Given the description of an element on the screen output the (x, y) to click on. 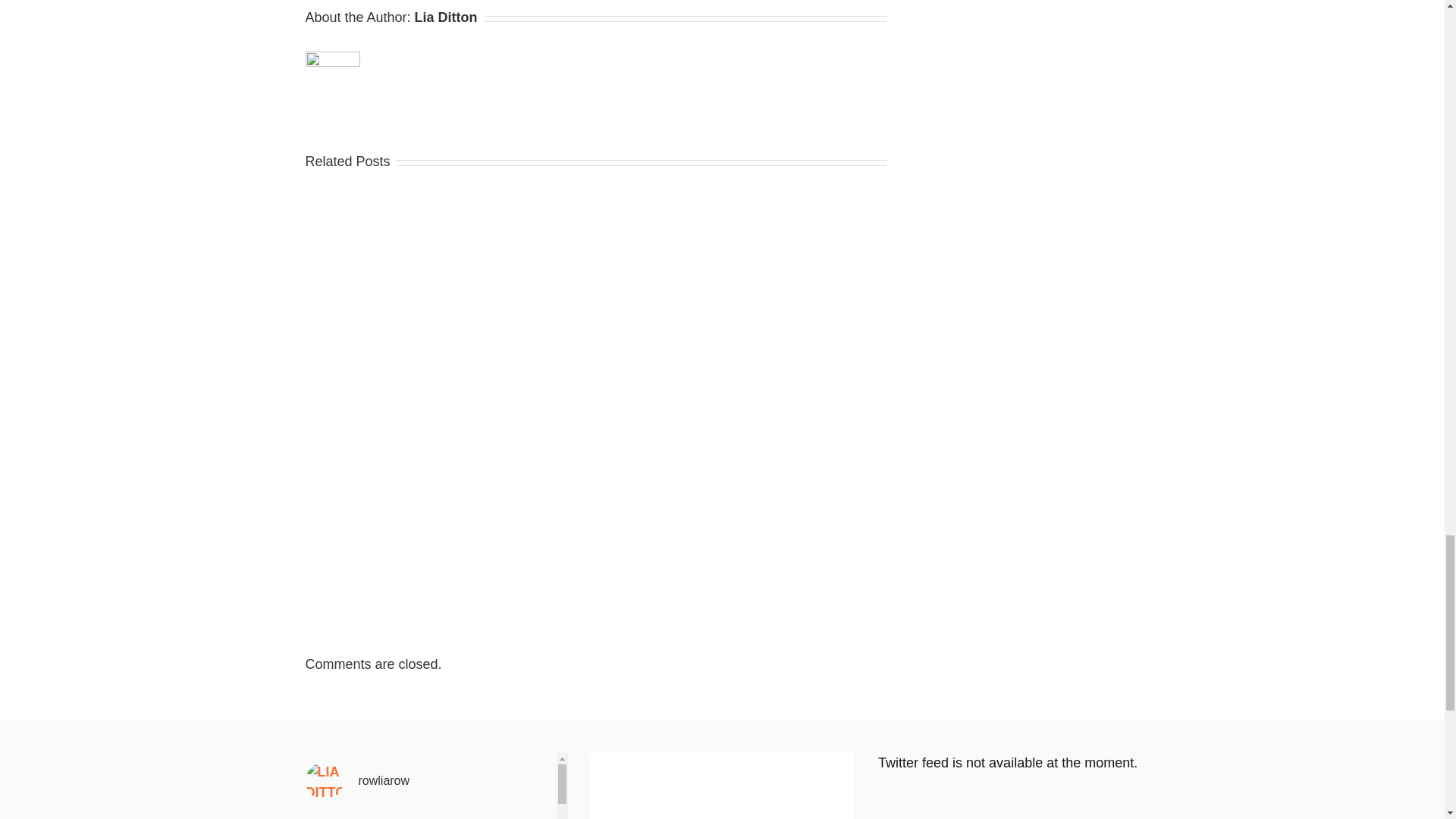
Lia Ditton (445, 17)
Posts by Lia Ditton (445, 17)
Likebox Iframe (721, 795)
